Given the description of an element on the screen output the (x, y) to click on. 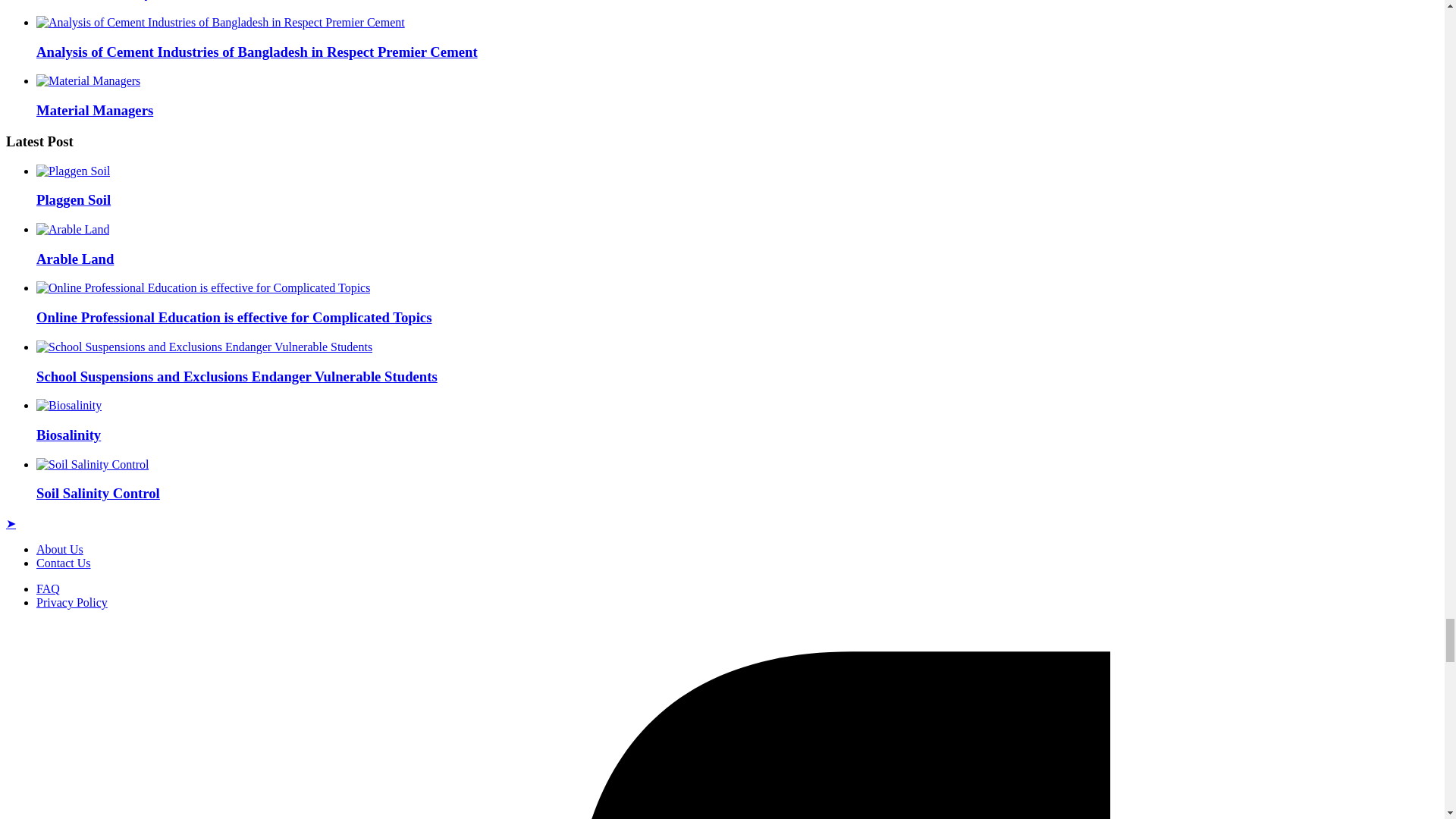
About Us (59, 549)
